Given the description of an element on the screen output the (x, y) to click on. 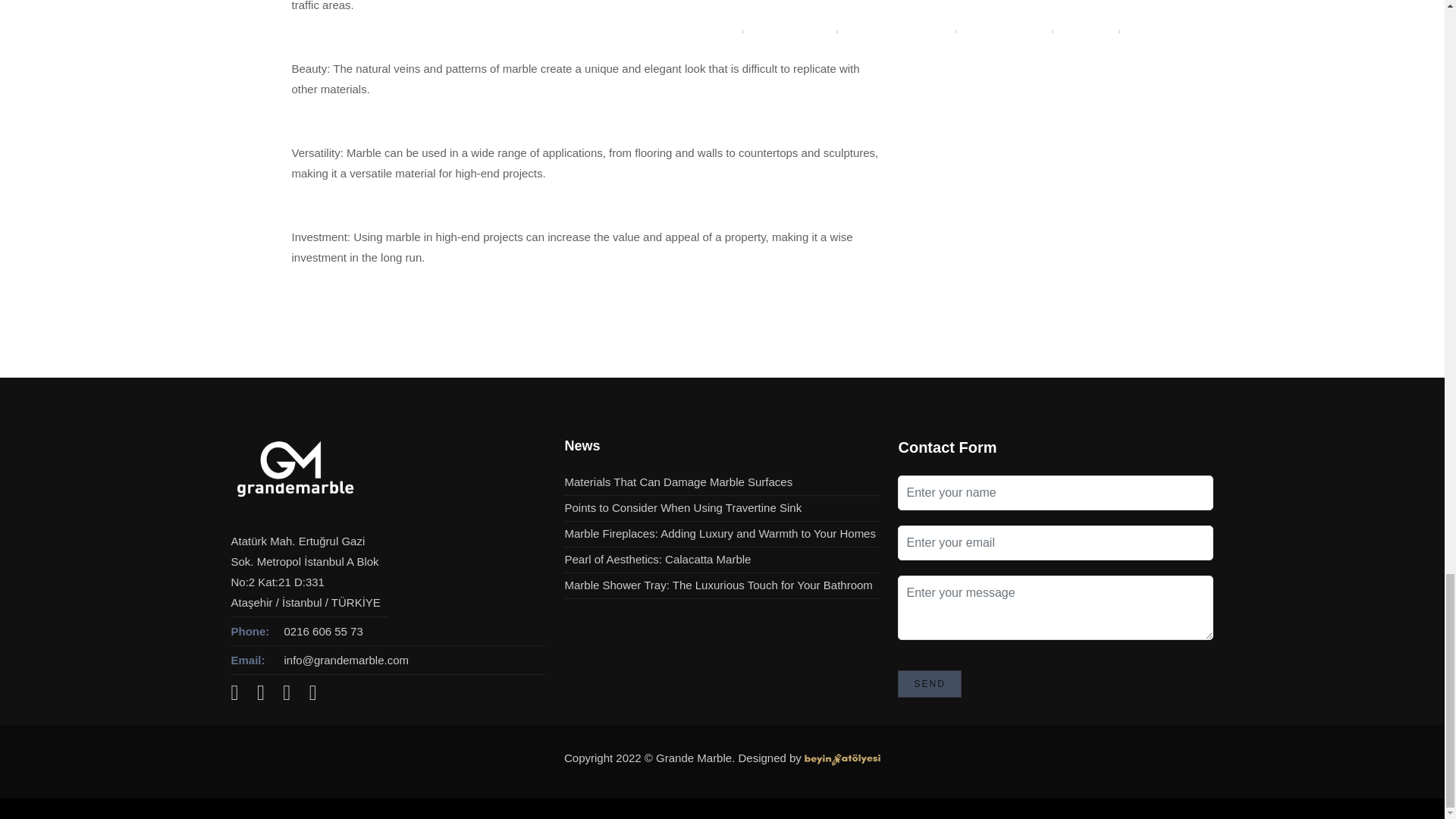
Send (929, 683)
Pearl of Aesthetics: Calacatta Marble (657, 558)
0216 606 55 73 (322, 631)
Materials That Can Damage Marble Surfaces (678, 481)
Marble Fireplaces: Adding Luxury and Warmth to Your Homes (719, 533)
Marble Shower Tray: The Luxurious Touch for Your Bathroom (718, 584)
Send (929, 683)
Points to Consider When Using Travertine Sink (683, 507)
